Given the description of an element on the screen output the (x, y) to click on. 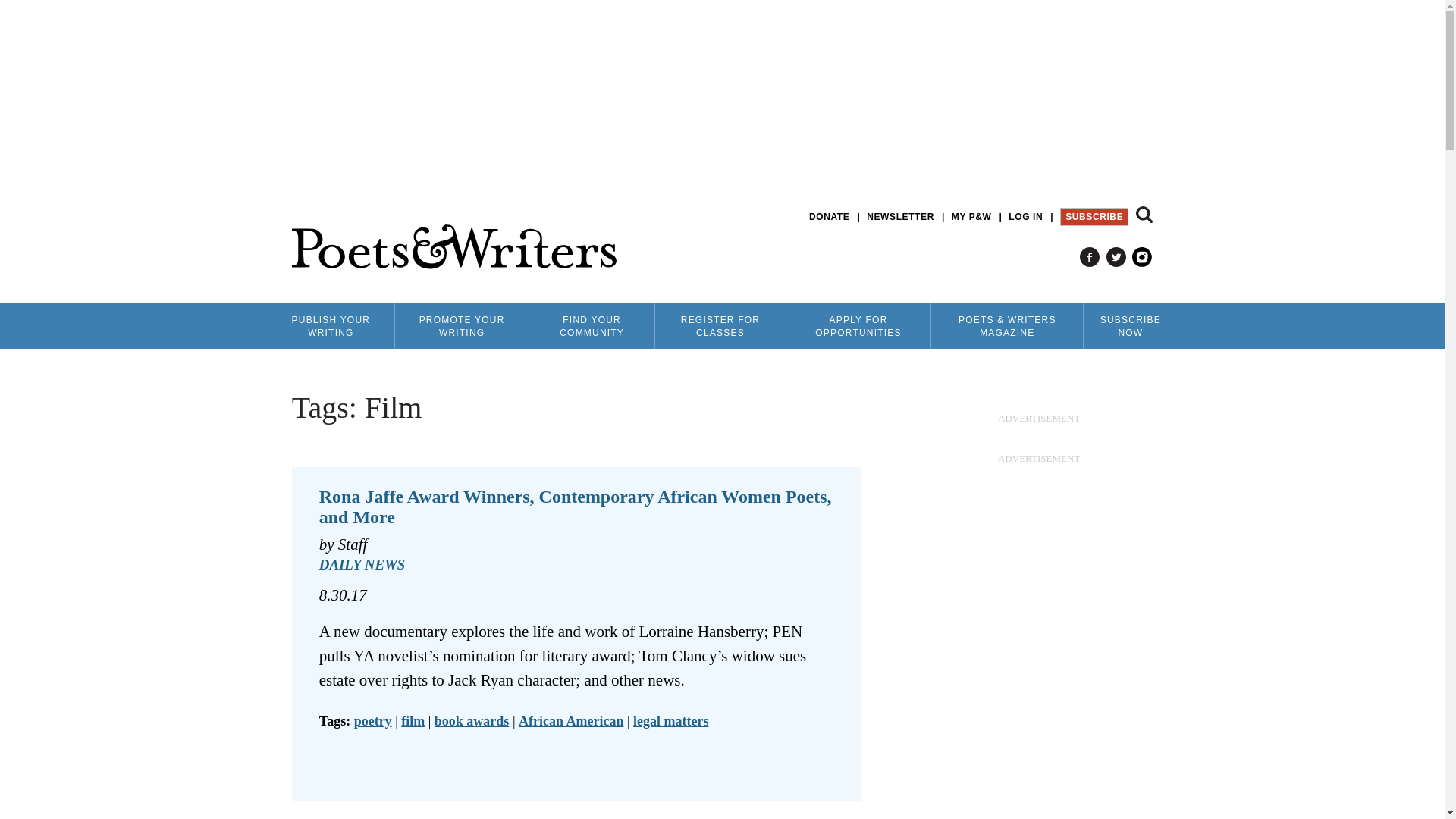
DONATE (828, 216)
Publish Your Writing (330, 325)
PUBLISH YOUR WRITING (330, 325)
Home (453, 246)
LOG IN (1025, 216)
SUBSCRIBE (1093, 217)
PROMOTE YOUR WRITING (461, 325)
NEWSLETTER (900, 216)
